Given the description of an element on the screen output the (x, y) to click on. 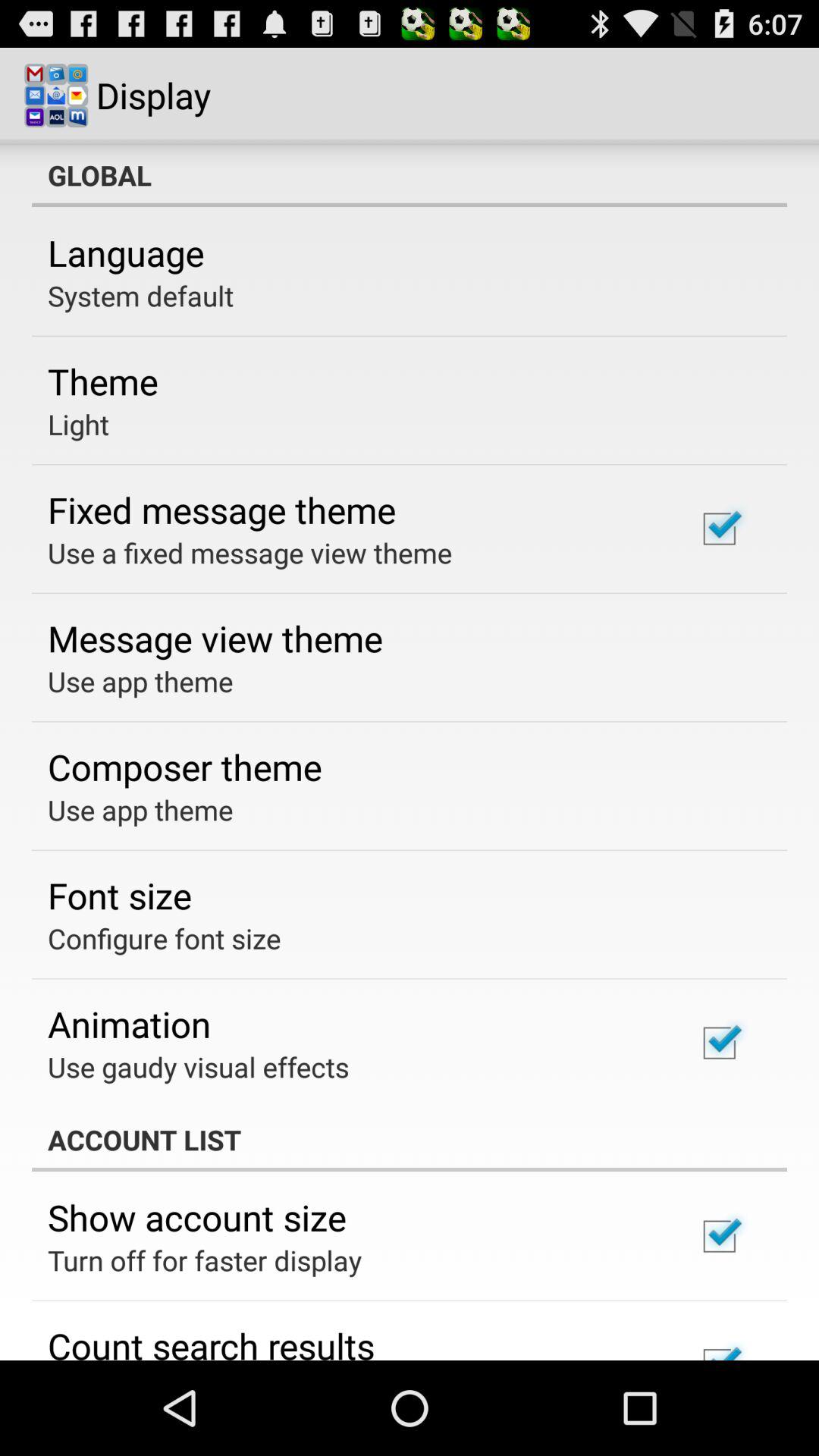
press the app below the global app (125, 252)
